Given the description of an element on the screen output the (x, y) to click on. 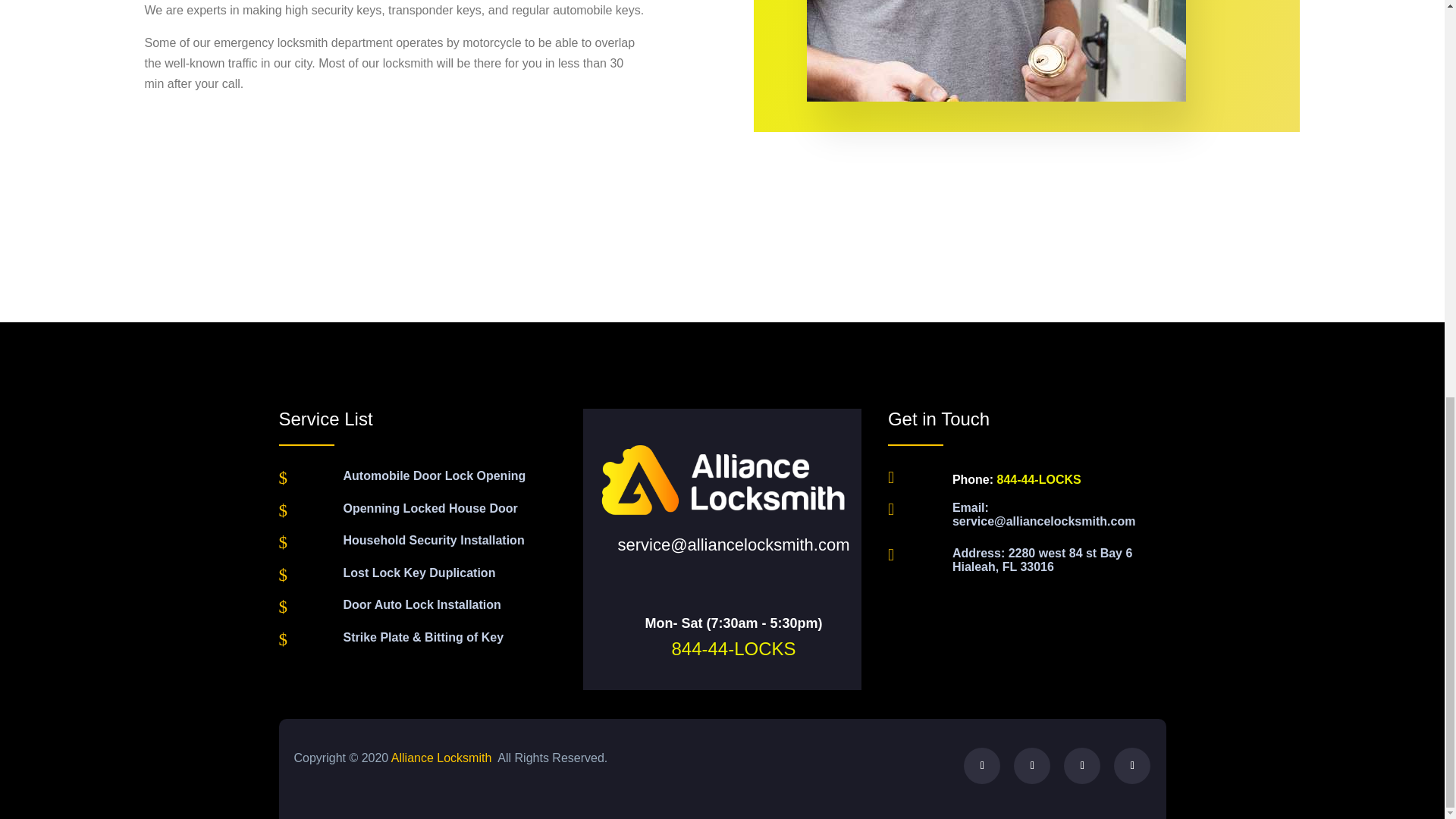
Follow on skype (1082, 765)
Follow on Facebook (981, 765)
Follow on LinkedIn (1131, 765)
alliance locksmith (721, 480)
Follow on Twitter (1031, 765)
